Given the description of an element on the screen output the (x, y) to click on. 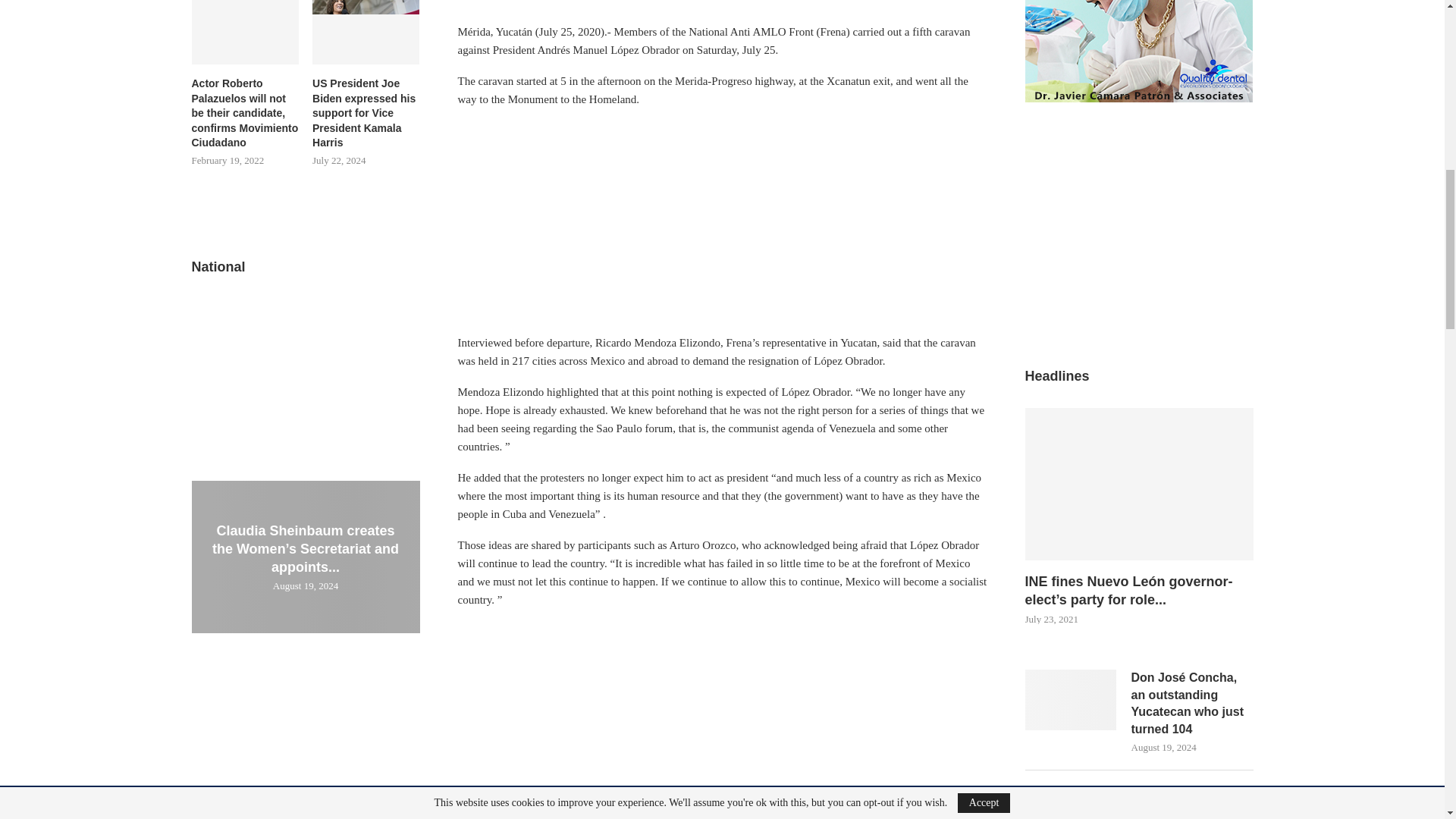
Advertisement (722, 227)
Advertisement (722, 720)
